Given the description of an element on the screen output the (x, y) to click on. 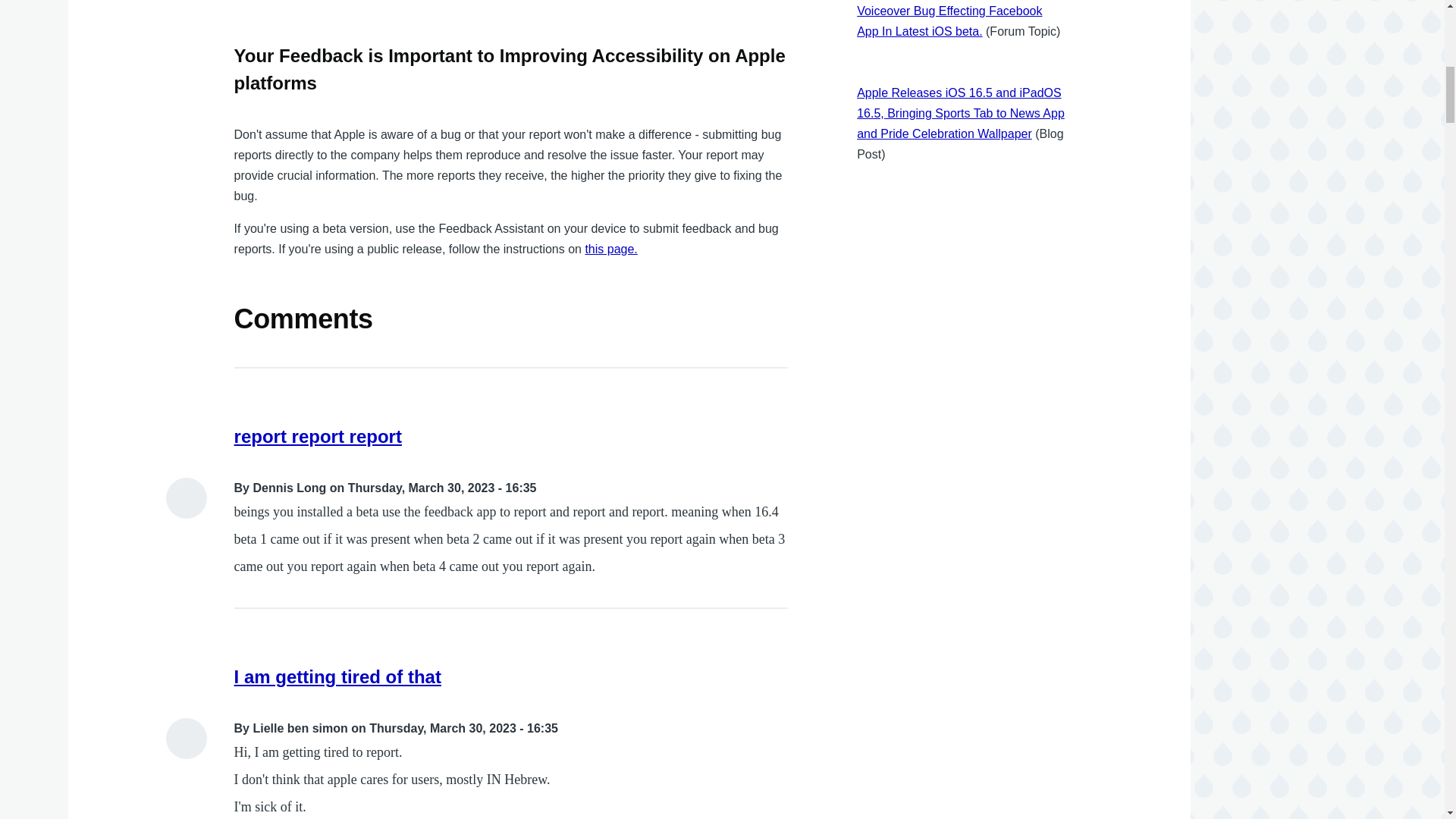
this page. (611, 248)
report report report (317, 435)
I am getting tired of that (337, 676)
